Given the description of an element on the screen output the (x, y) to click on. 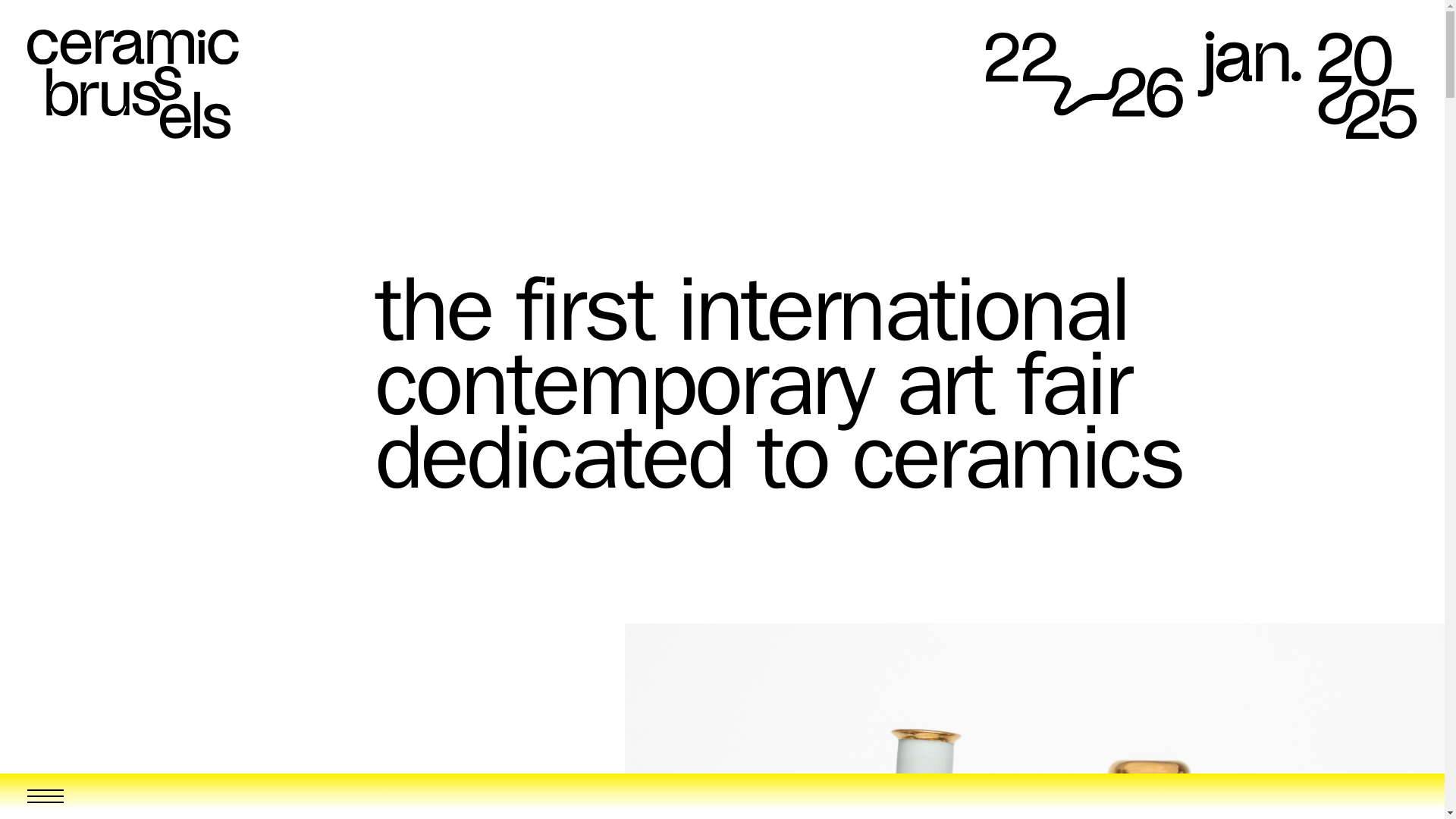
ceramic brussels (132, 83)
22 - 26 jan. 2025 (1200, 83)
